Given the description of an element on the screen output the (x, y) to click on. 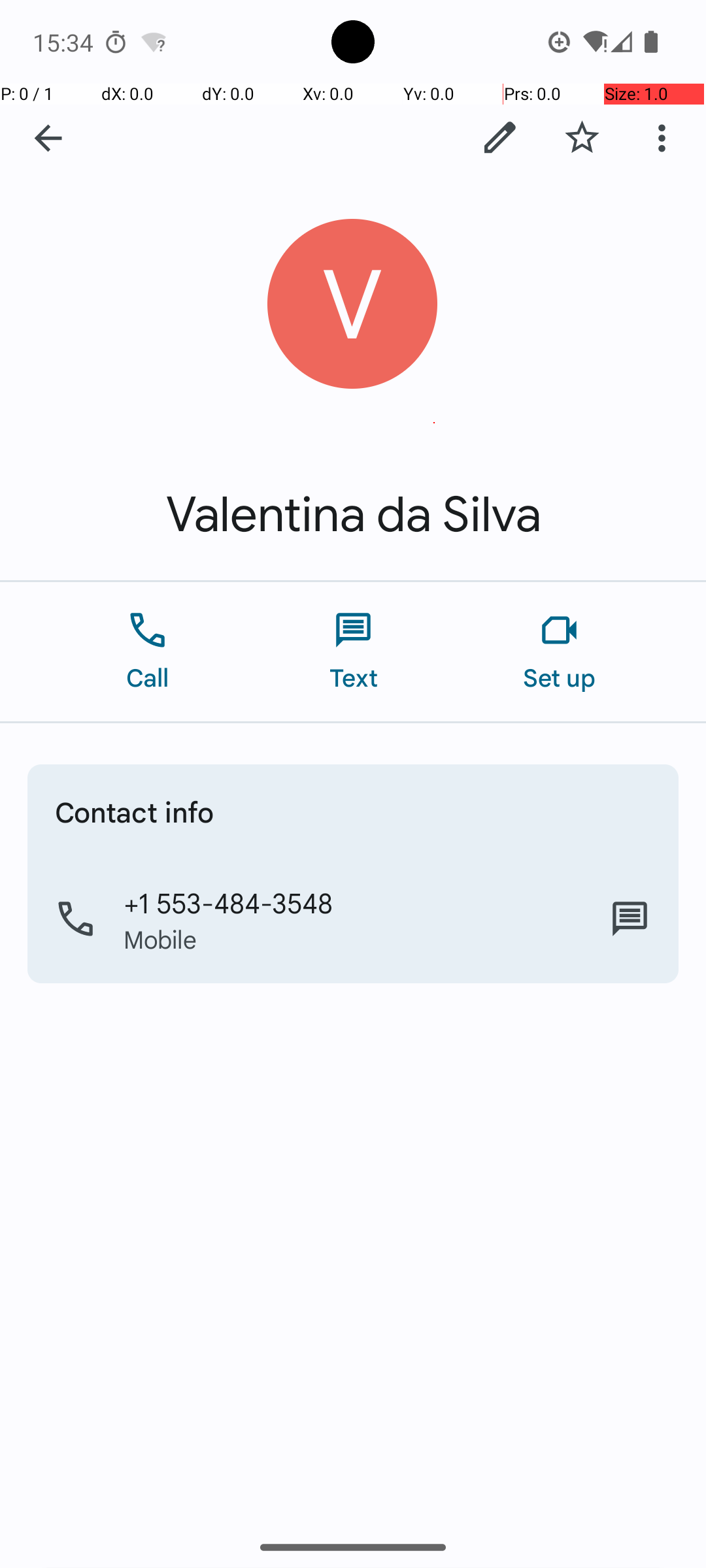
Valentina da Silva Element type: android.widget.TextView (352, 514)
Call Mobile +1 553-484-3548 Element type: android.widget.RelativeLayout (352, 919)
+1 553-484-3548 Element type: android.widget.TextView (228, 901)
Text Mobile +1 553-484-3548 Element type: android.widget.Button (629, 919)
